Given the description of an element on the screen output the (x, y) to click on. 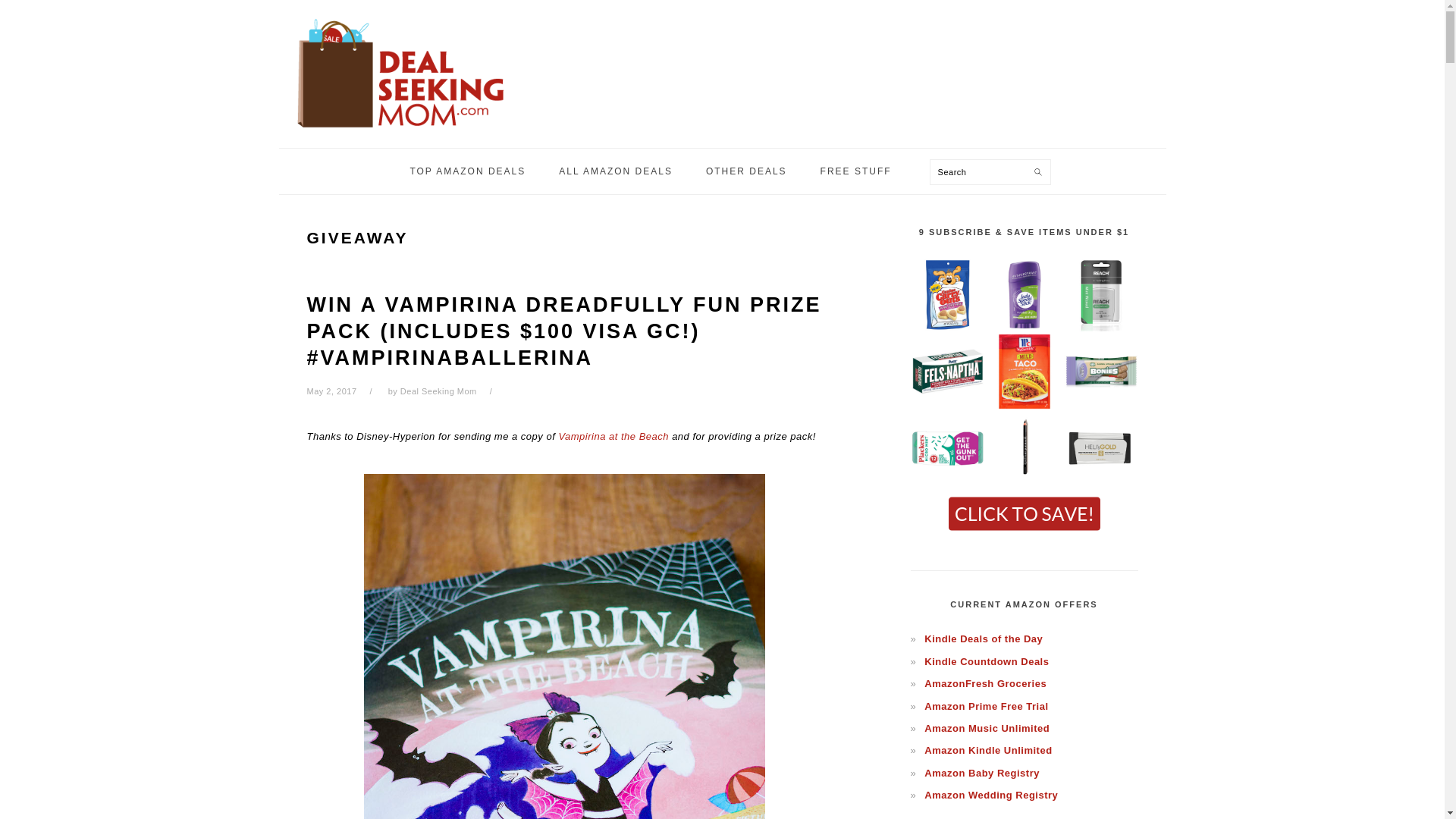
Vampirina at the Beach (612, 436)
TOP AMAZON DEALS (467, 171)
Deal Seeking Mom (438, 390)
Other Deals (746, 171)
ALL AMAZON DEALS (615, 171)
Deal Seeking Mom (400, 132)
FREE STUFF (856, 171)
